Given the description of an element on the screen output the (x, y) to click on. 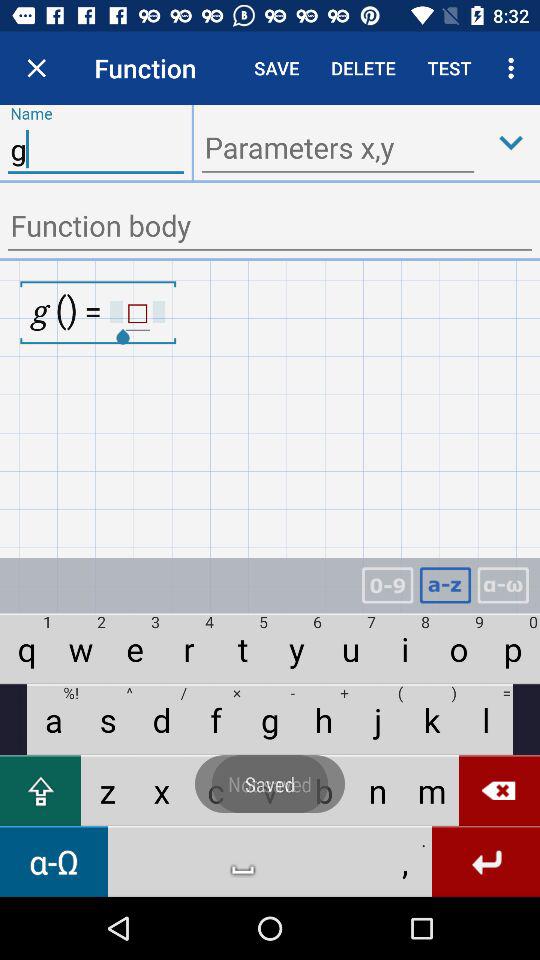
excel numbers symbol (387, 585)
